Given the description of an element on the screen output the (x, y) to click on. 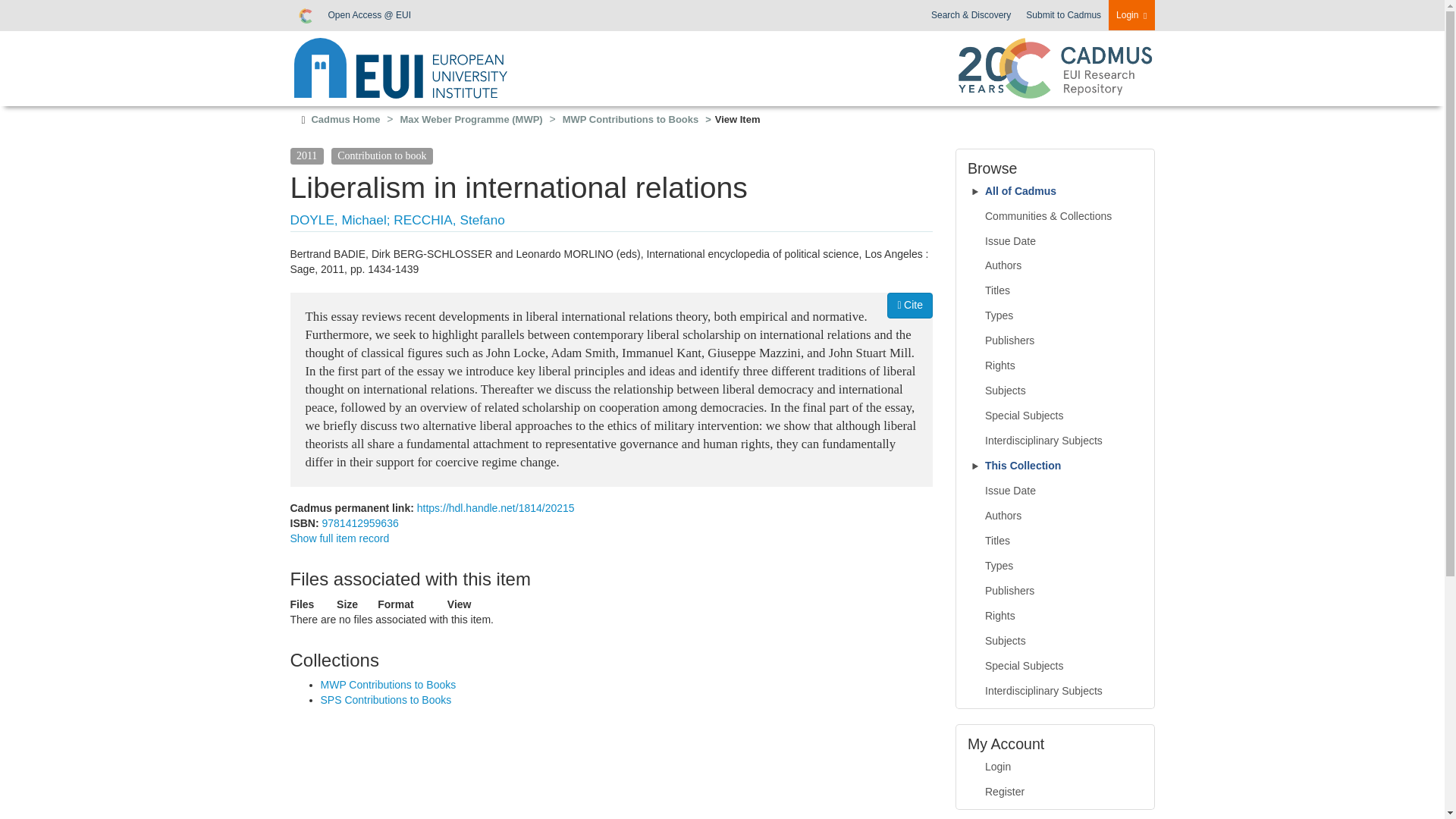
Special Subjects (1055, 416)
Authors (1055, 266)
MWP Contributions to Books (630, 119)
Cadmus Home (345, 119)
Show full item record (338, 538)
Subjects (1055, 391)
9781412959636 (359, 522)
DOYLE, Michael (337, 219)
SPS Contributions to Books (385, 699)
This Collection (1055, 466)
Issue Date (1055, 491)
Interdisciplinary Subjects (1055, 441)
RECCHIA, Stefano (448, 219)
Issue Date (1055, 241)
All of Cadmus (1055, 191)
